Given the description of an element on the screen output the (x, y) to click on. 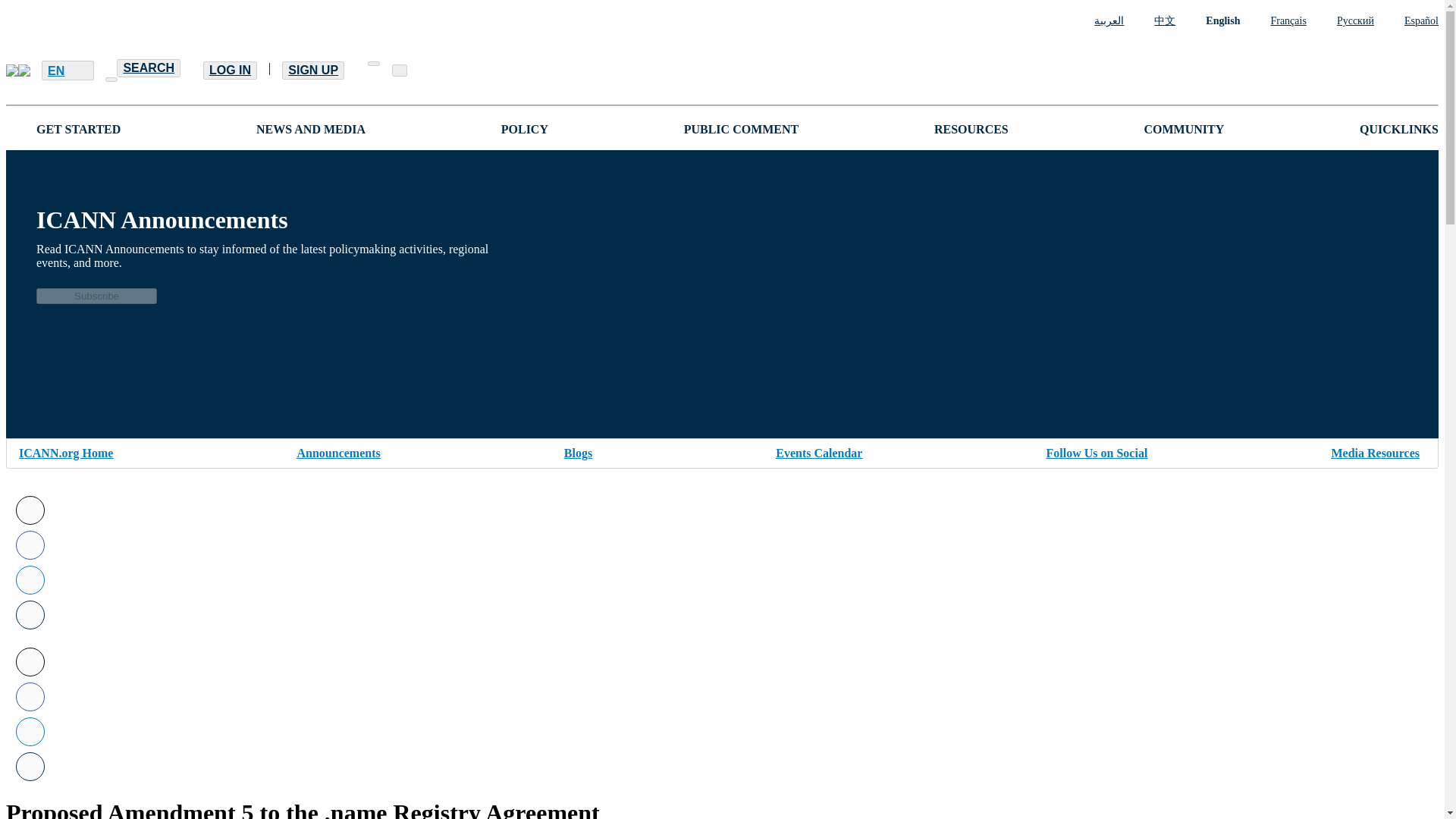
Follow Us on Social (1097, 451)
RESOURCES (971, 128)
Logo (17, 70)
SIGN UP (312, 70)
GET STARTED (78, 128)
NEWS AND MEDIA (310, 128)
SEARCH (148, 67)
POLICY (524, 128)
Subscribe (96, 295)
ICANN.org Home (65, 451)
